Given the description of an element on the screen output the (x, y) to click on. 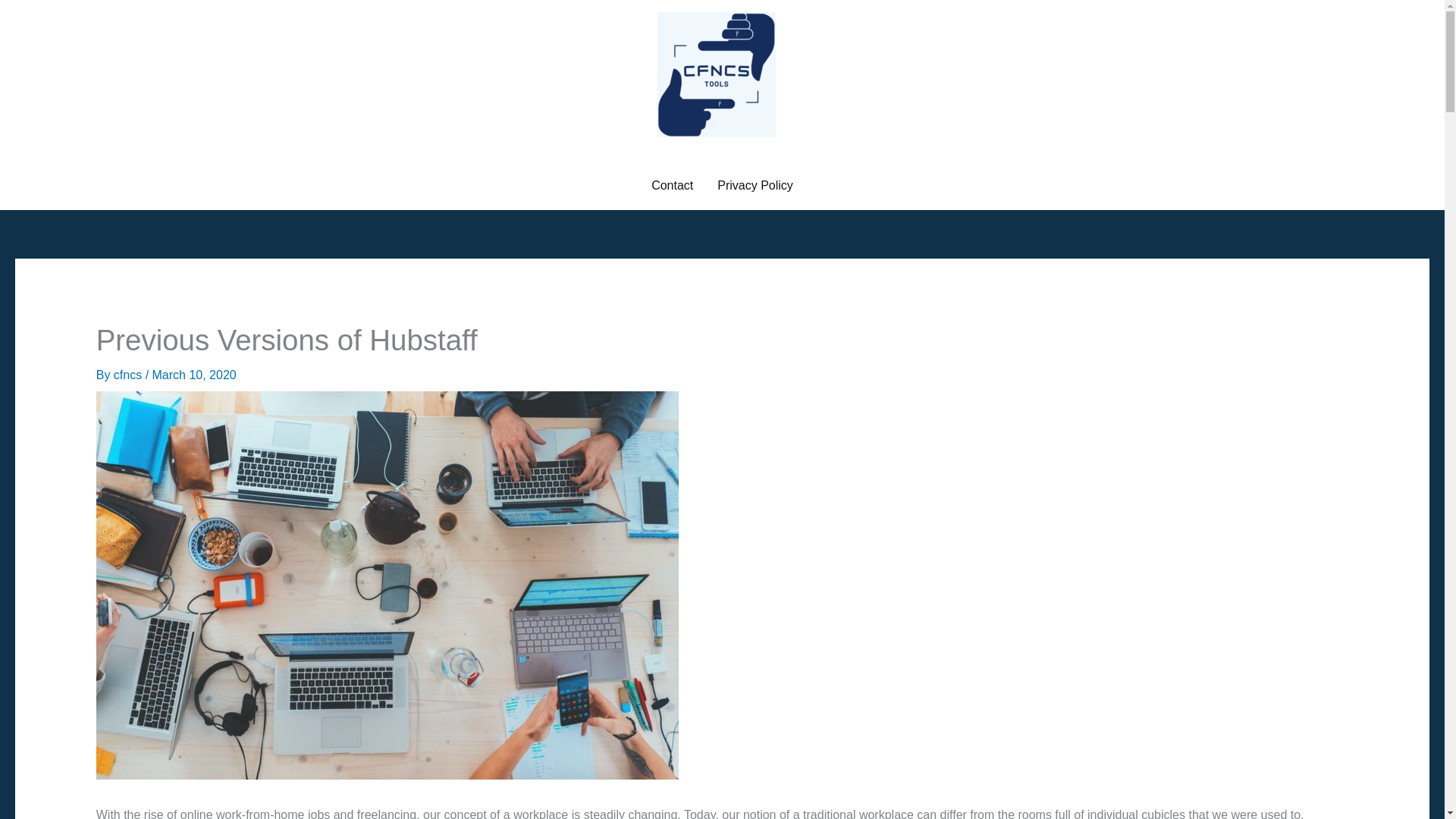
cfncs (129, 374)
Contact (671, 185)
View all posts by cfncs (129, 374)
Privacy Policy (754, 185)
